Given the description of an element on the screen output the (x, y) to click on. 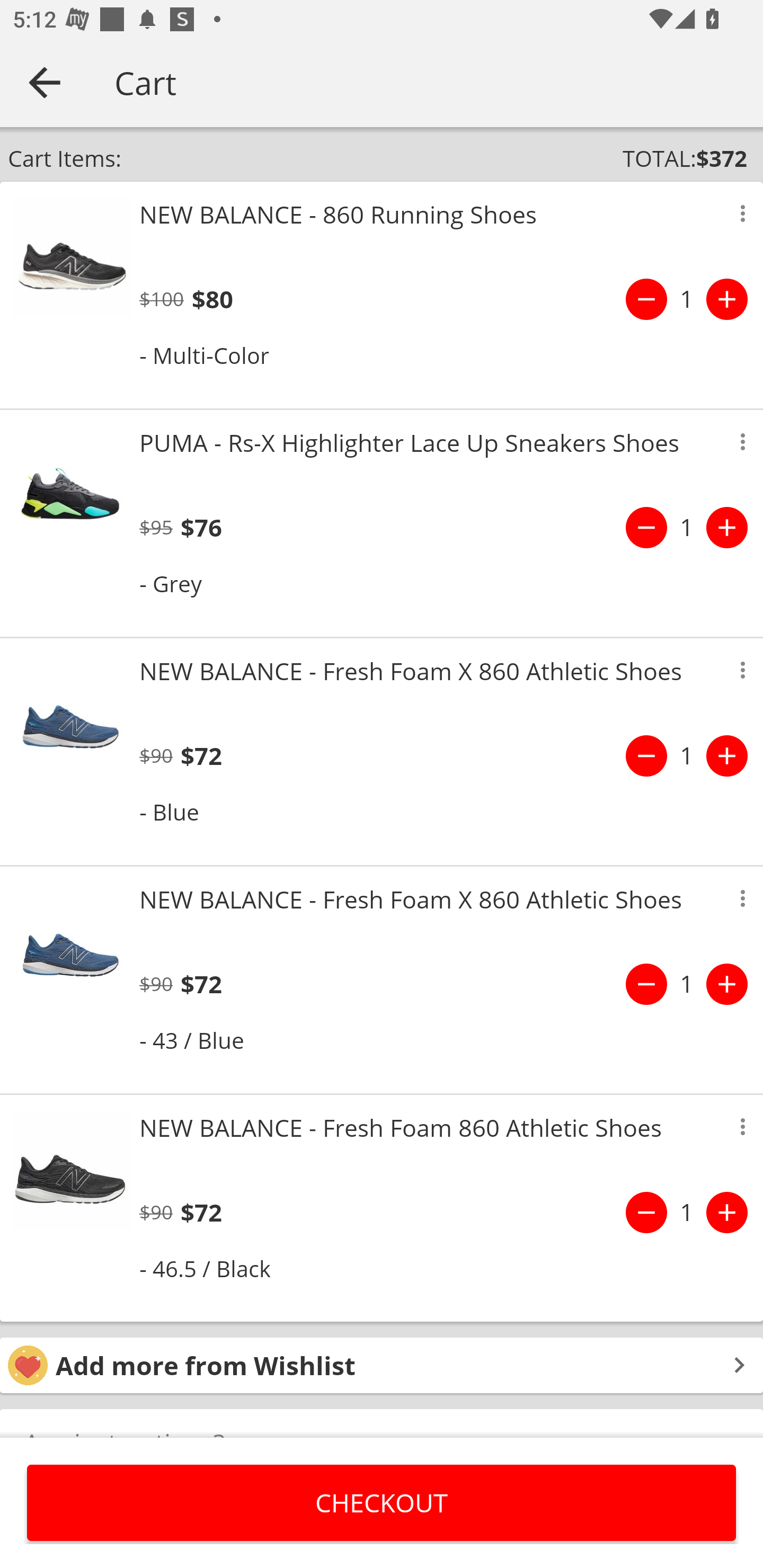
Navigate up (44, 82)
1 (686, 299)
1 (686, 527)
1 (686, 755)
1 (686, 984)
1 (686, 1211)
Add more from Wishlist (381, 1365)
CHECKOUT (381, 1502)
